Given the description of an element on the screen output the (x, y) to click on. 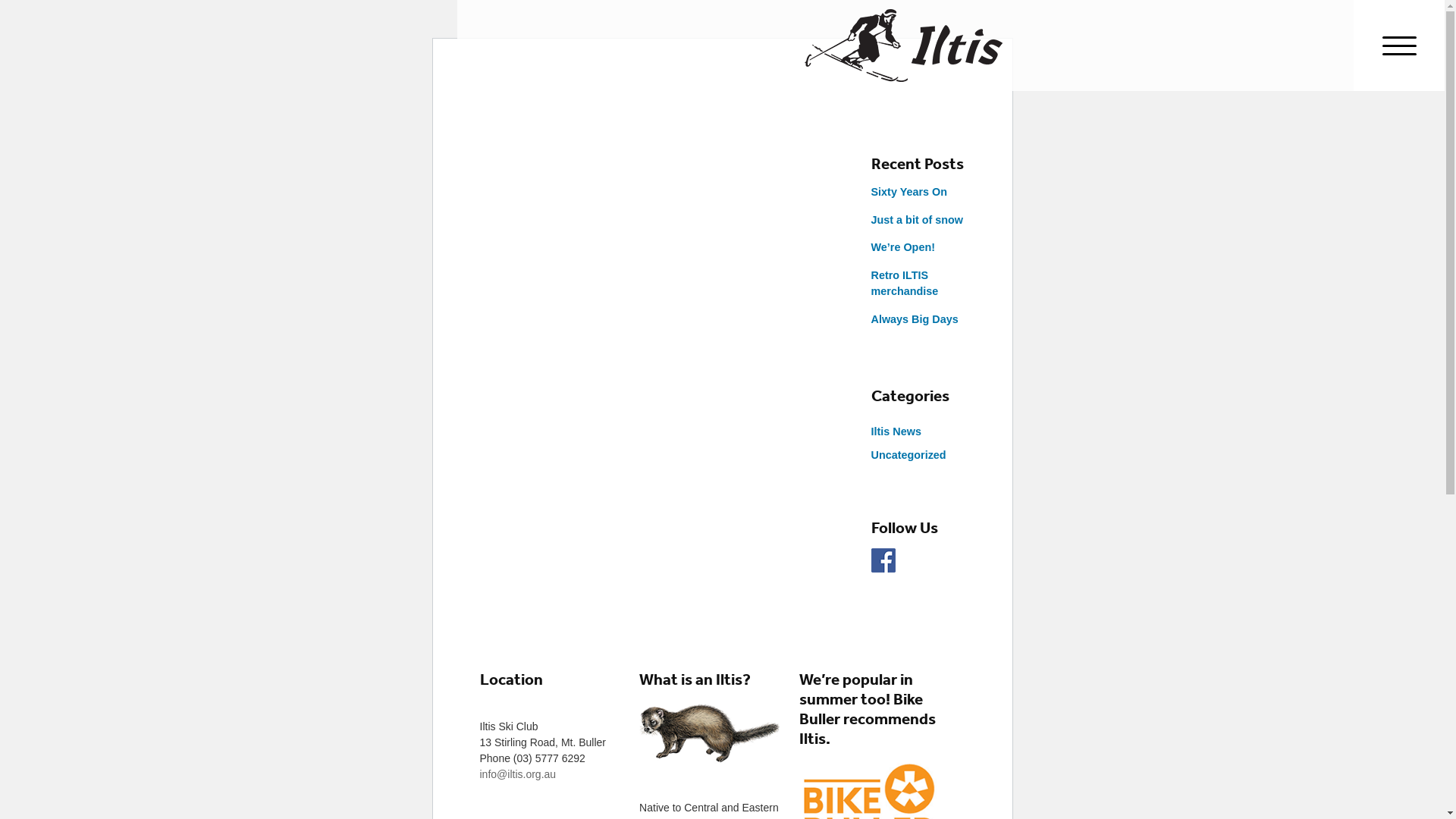
Uncategorized Element type: text (907, 454)
Always Big Days Element type: text (913, 319)
Retro ILTIS merchandise Element type: text (904, 283)
Just a bit of snow Element type: text (916, 219)
info@iltis.org.au Element type: text (517, 774)
Sixty Years On Element type: text (908, 191)
Iltis News Element type: text (895, 431)
